Given the description of an element on the screen output the (x, y) to click on. 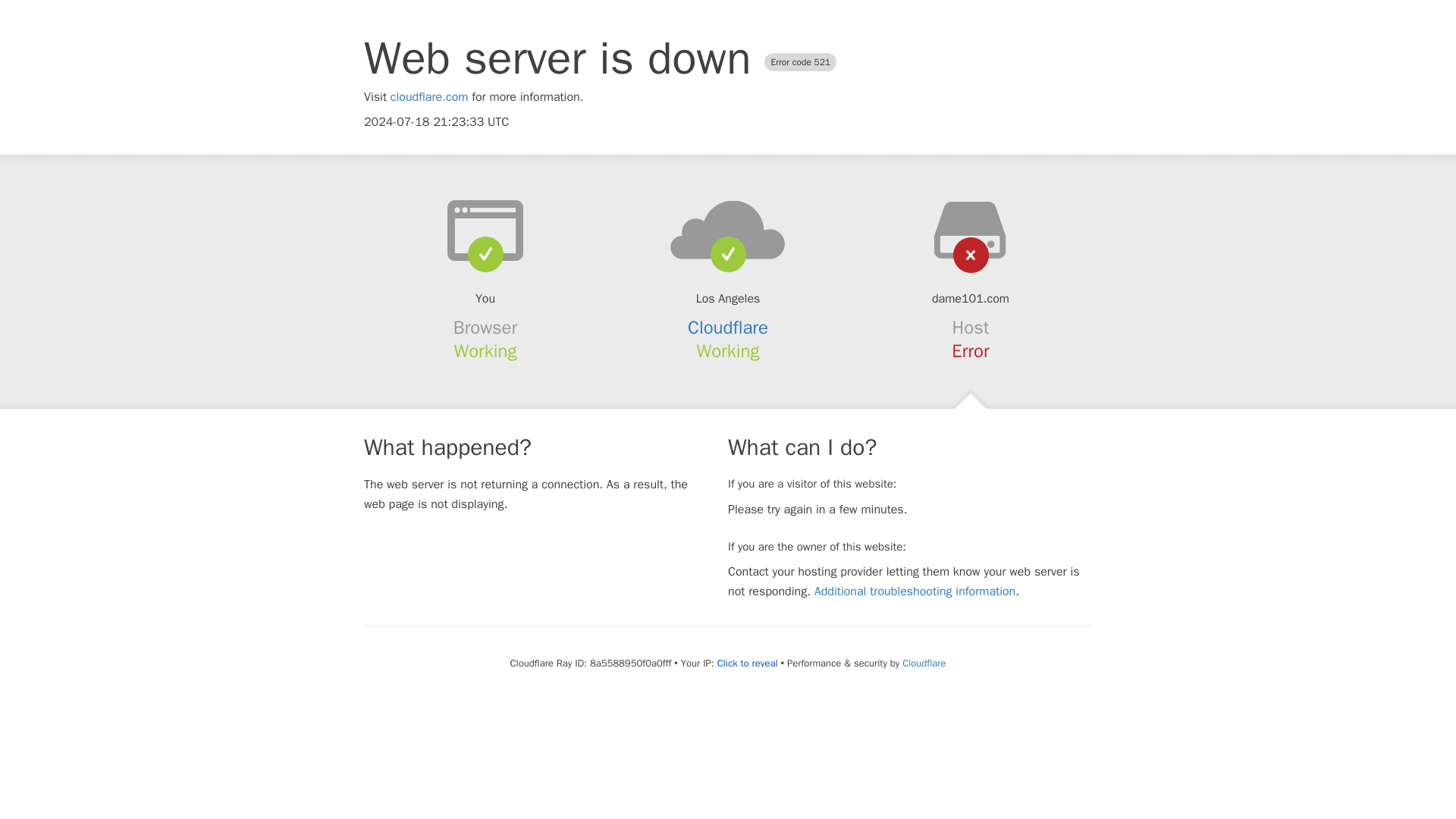
Cloudflare (923, 662)
cloudflare.com (429, 96)
Additional troubleshooting information (913, 590)
Click to reveal (747, 663)
Cloudflare (727, 327)
